Given the description of an element on the screen output the (x, y) to click on. 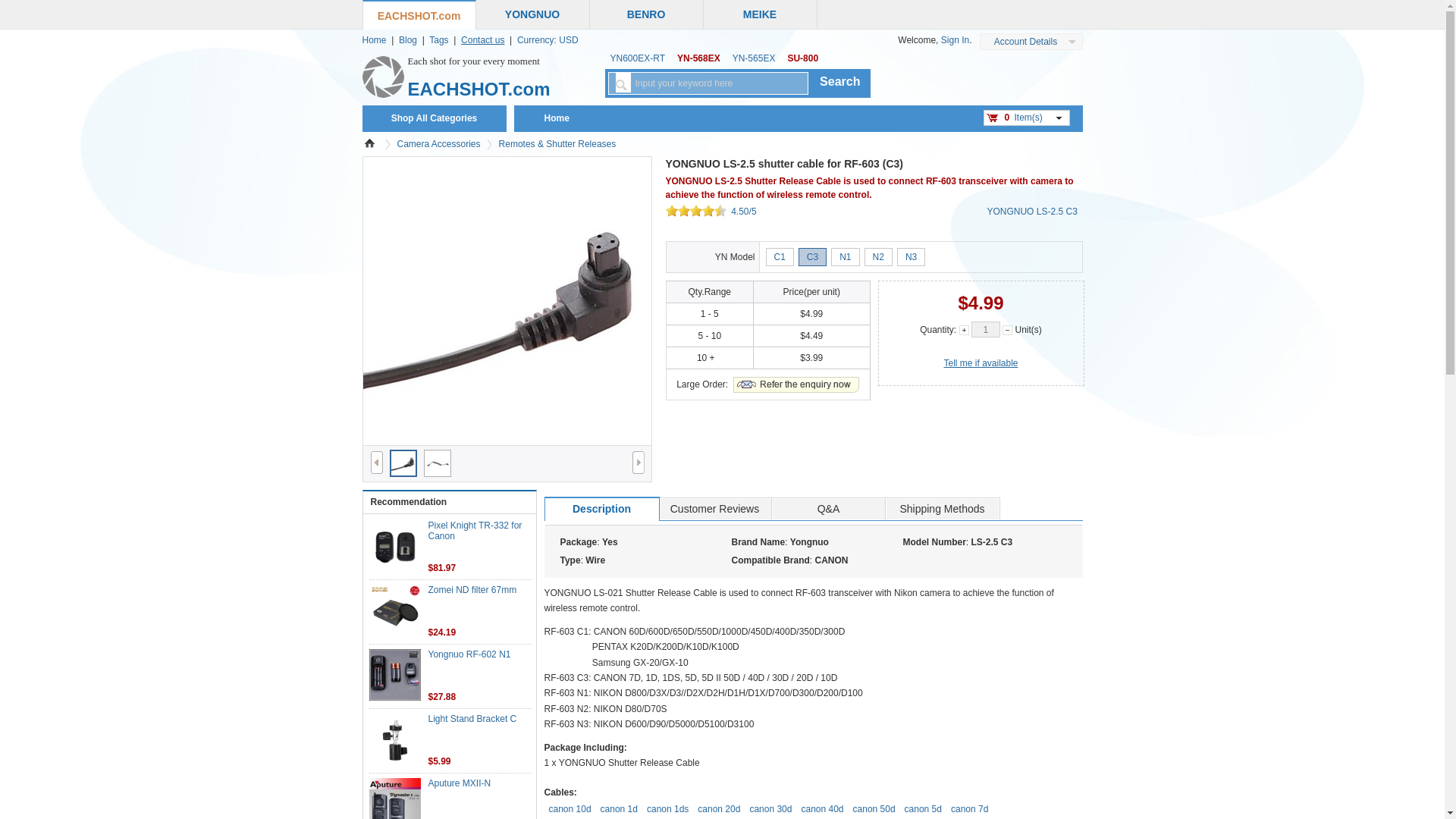
YN-565EX (753, 58)
SU-800 (802, 58)
Sign In (954, 40)
Tags (438, 40)
YN-568EX (698, 58)
Shop All Categories (434, 118)
EACHSHOT.com (478, 89)
Blog (407, 40)
MEIKE (759, 14)
EACHSHOT.com (418, 15)
Currency: USD (547, 40)
BENRO (646, 14)
YONGNUO (532, 14)
Account Details (1025, 41)
Search  (840, 82)
